Given the description of an element on the screen output the (x, y) to click on. 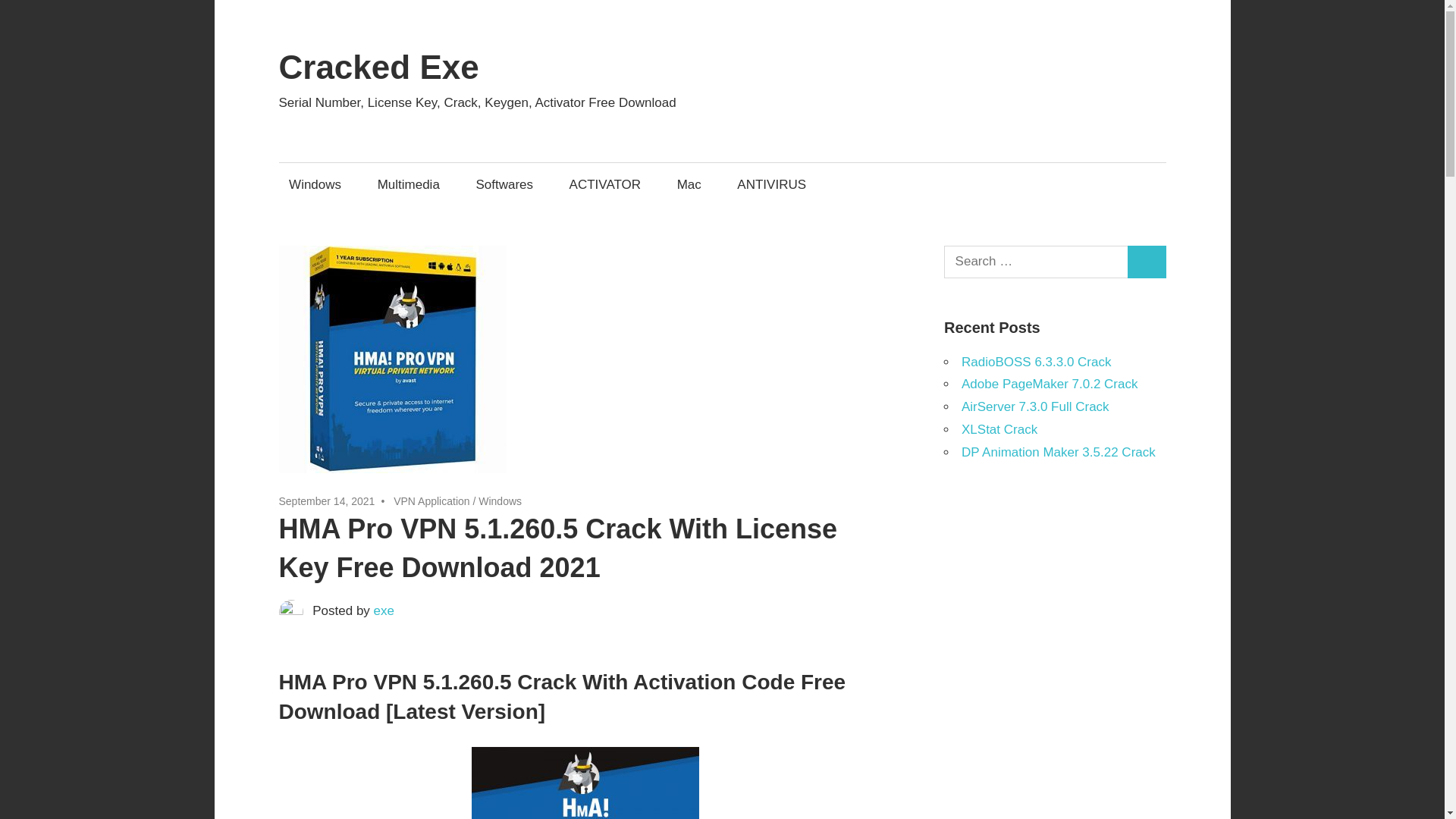
DP Animation Maker 3.5.22 Crack (1058, 451)
XLStat Crack (998, 429)
September 14, 2021 (327, 500)
5:49 am (327, 500)
Adobe PageMaker 7.0.2 Crack (1048, 383)
Search (1146, 261)
exe (384, 610)
AirServer 7.3.0 Full Crack (1034, 406)
Search for: (1035, 261)
Mac (688, 184)
